Given the description of an element on the screen output the (x, y) to click on. 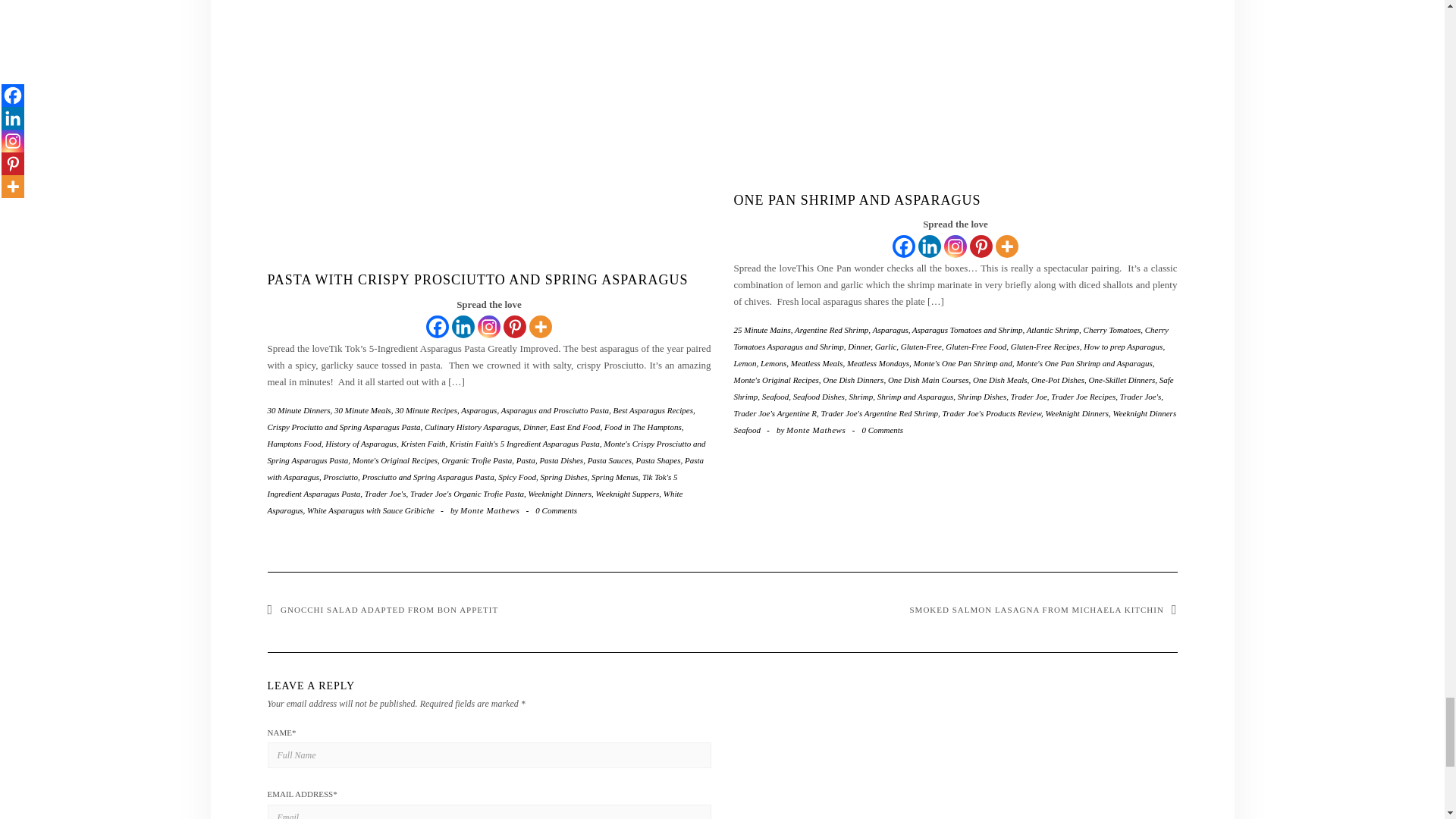
Facebook (437, 326)
Pasta with Crispy Prosciutto and Spring Asparagus (476, 279)
